Given the description of an element on the screen output the (x, y) to click on. 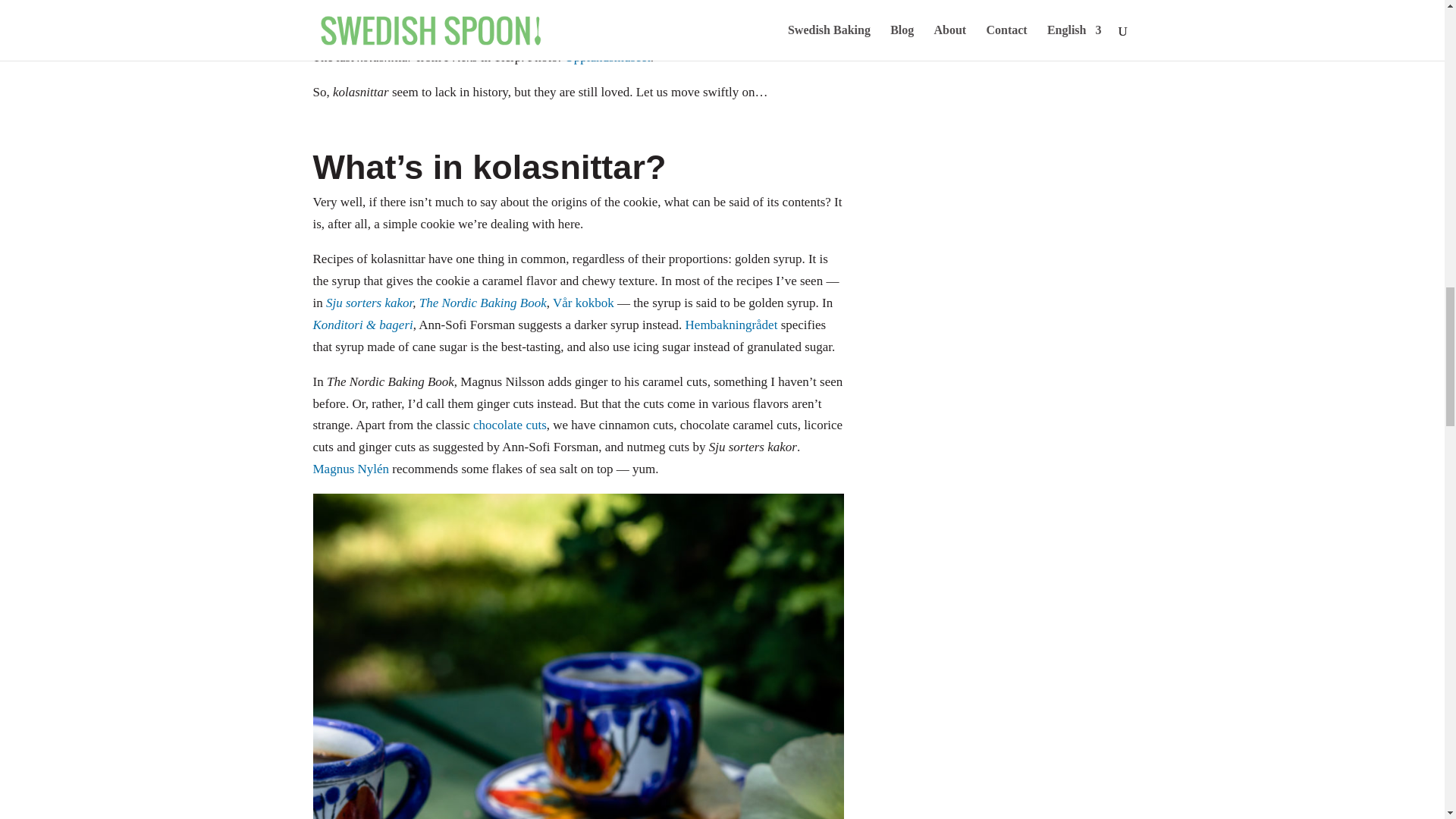
Sju sorters kakor (369, 302)
The Nordic Baking Book (483, 302)
Upplandsmuseet (606, 56)
chocolate cuts (510, 424)
